Given the description of an element on the screen output the (x, y) to click on. 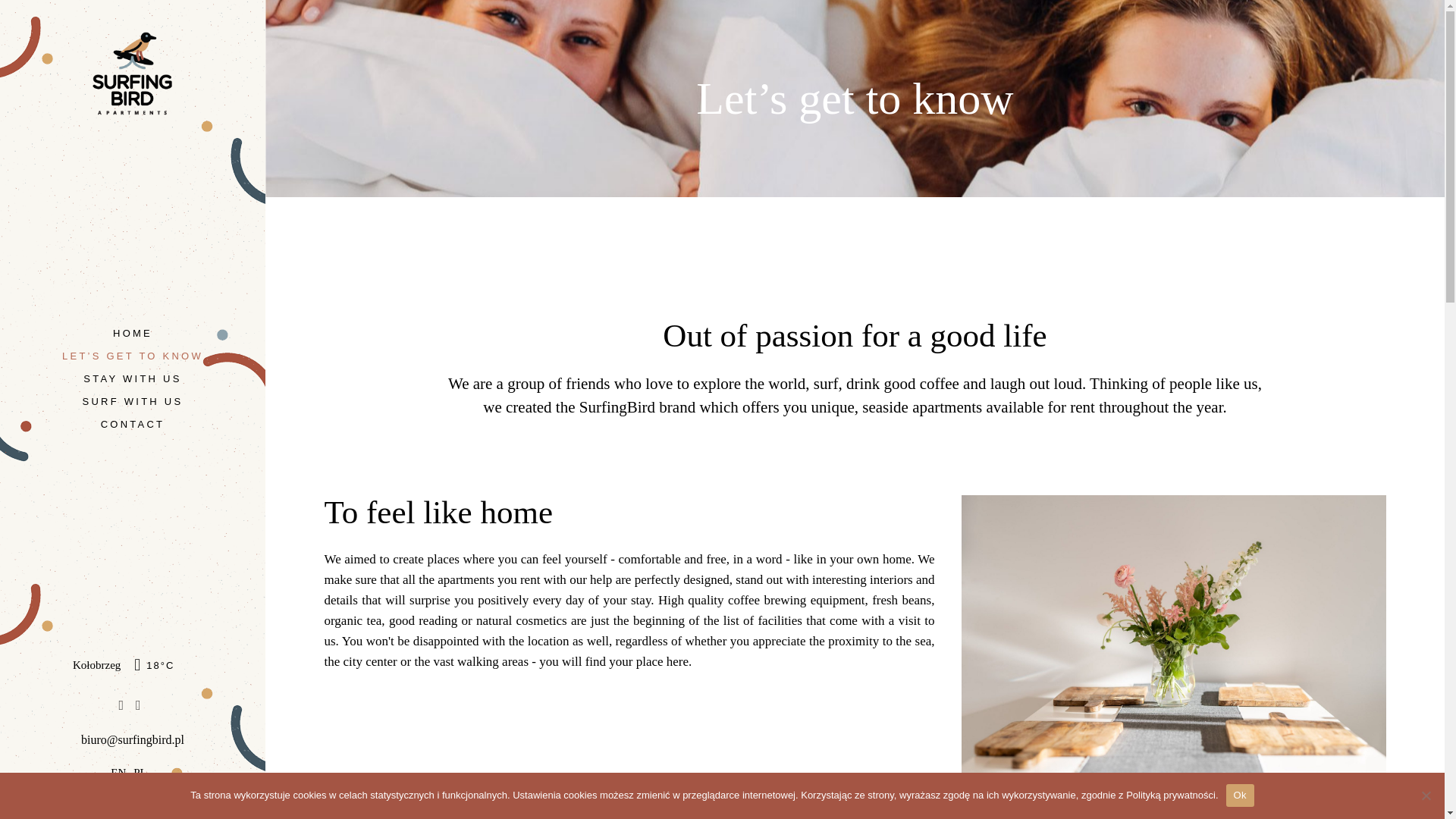
EN (117, 772)
SURF WITH US (132, 401)
STAY WITH US (131, 378)
HOME (132, 333)
CONTACT (132, 423)
Ok (1239, 794)
PL (140, 772)
